Given the description of an element on the screen output the (x, y) to click on. 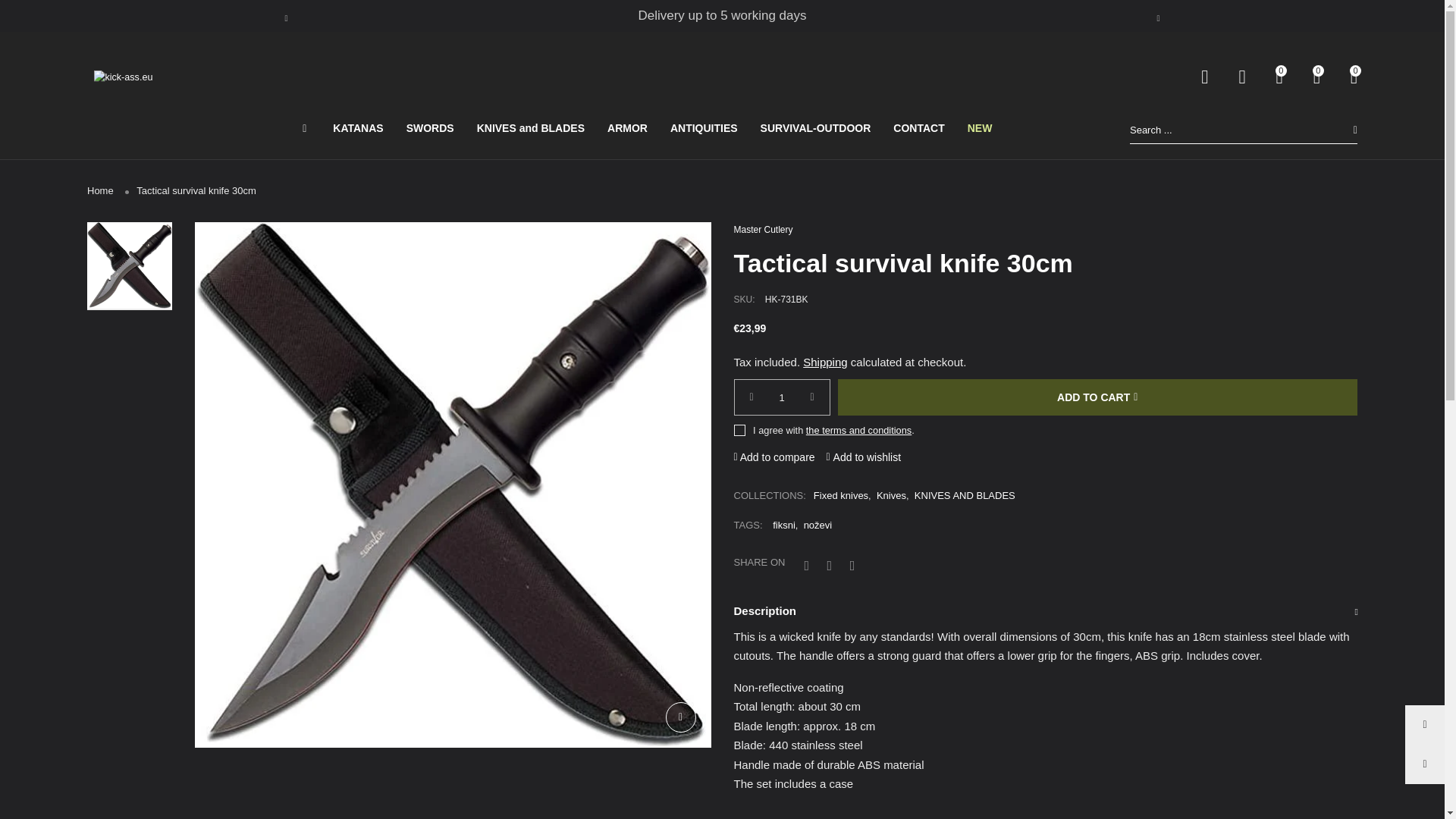
0 (1279, 84)
SURVIVAL-OUTDOOR (815, 128)
KNIVES and BLADES (531, 128)
Wishlist (1316, 84)
ANTIQUITIES (703, 128)
CONTACT (918, 128)
SWORDS (430, 128)
Language (1204, 84)
SURVIVAL-OUTDOOR (815, 128)
NEW (980, 128)
0 (1354, 84)
My Account (1241, 84)
NEW (980, 128)
KATANAS (357, 128)
Compare (1279, 84)
